Given the description of an element on the screen output the (x, y) to click on. 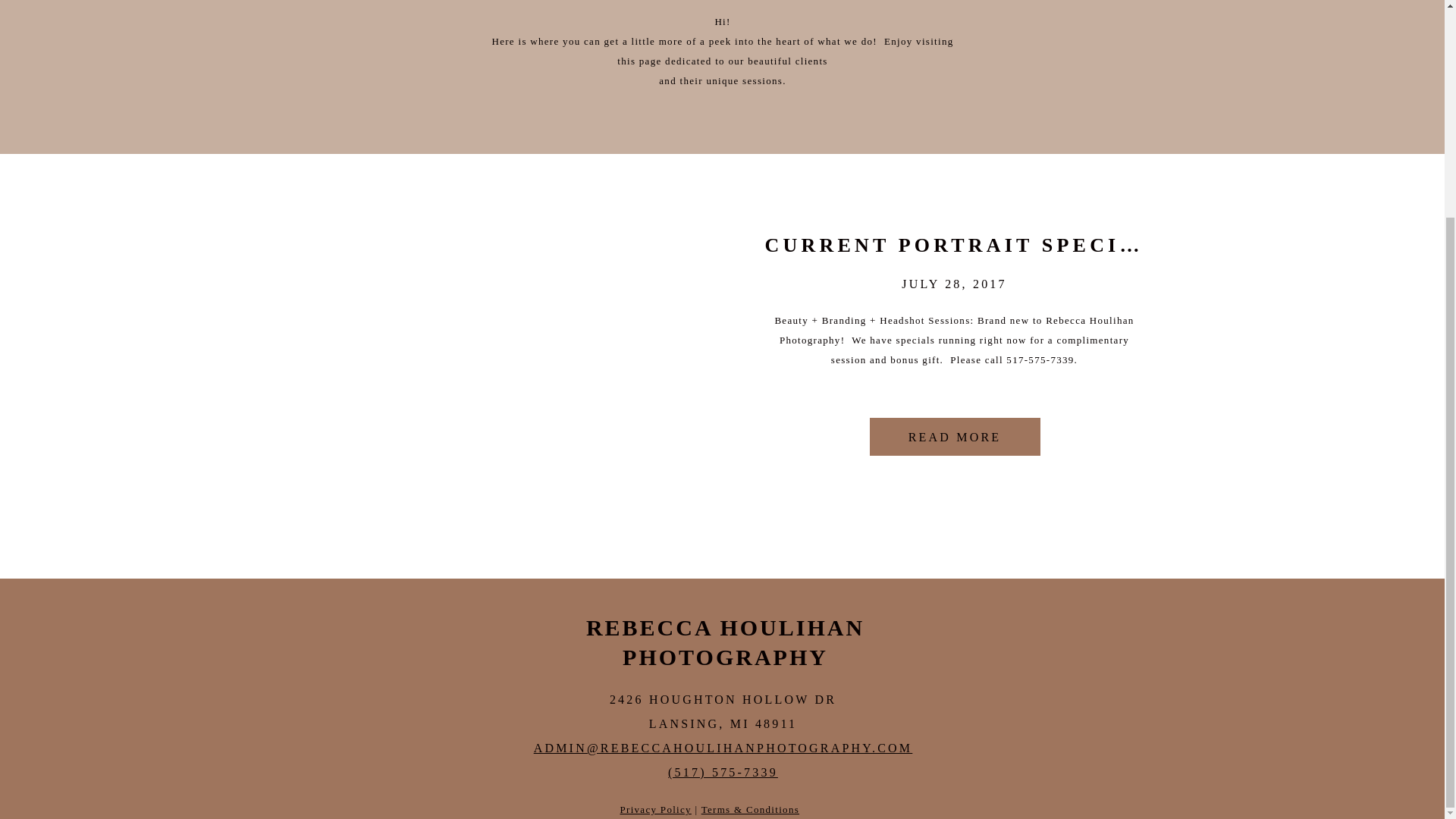
READ MORE (954, 436)
Current Portrait Specials (954, 436)
Privacy Policy (655, 808)
Current Portrait Specials (508, 343)
